Given the description of an element on the screen output the (x, y) to click on. 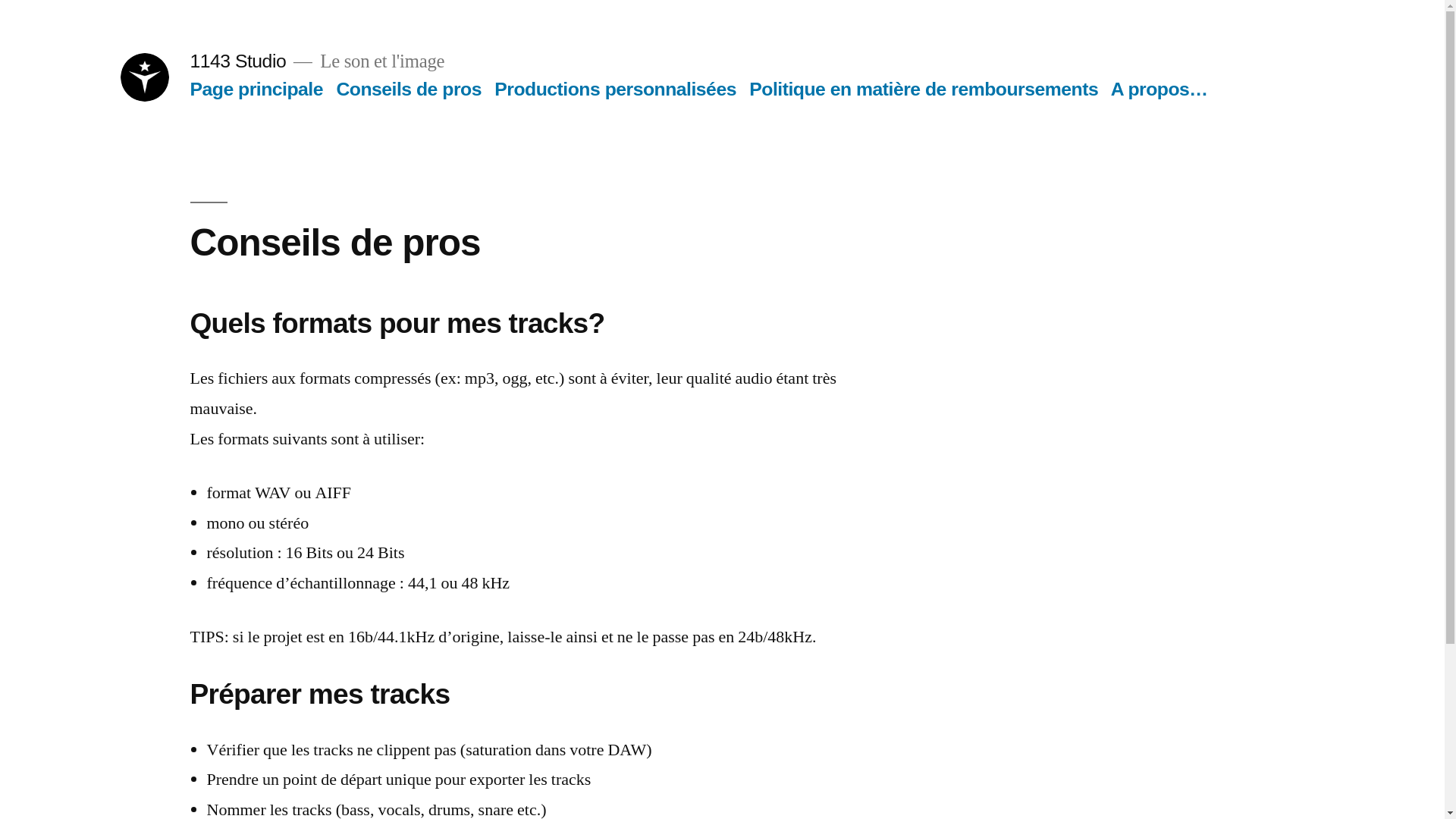
Conseils de pros Element type: text (408, 88)
Page principale Element type: text (256, 88)
1143 Studio Element type: text (237, 60)
